Given the description of an element on the screen output the (x, y) to click on. 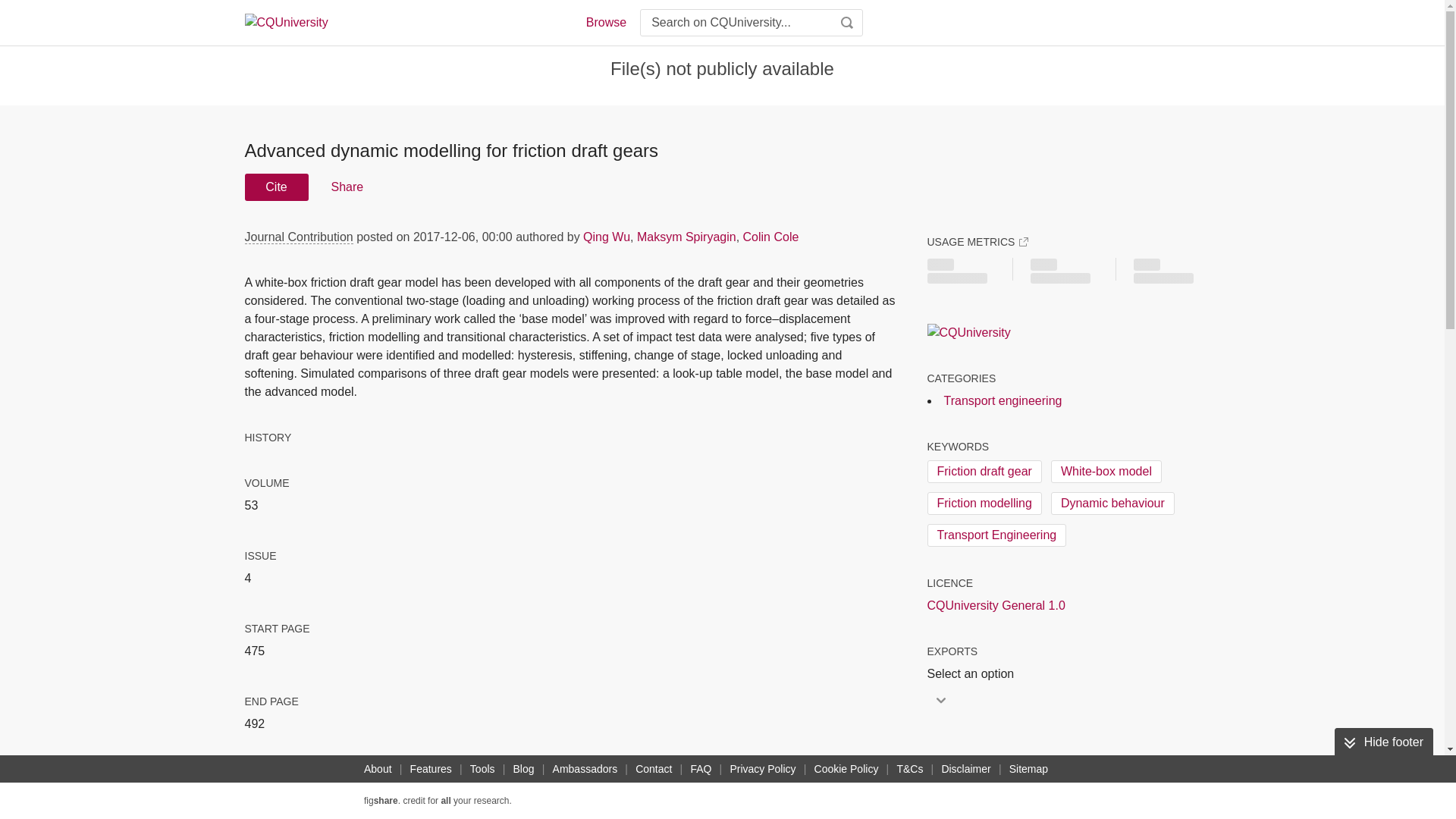
Share (346, 186)
About (377, 769)
Cite (275, 186)
Colin Cole (770, 236)
Tools (482, 769)
Qing Wu (606, 236)
Transport engineering (1002, 400)
USAGE METRICS (976, 241)
Features (431, 769)
Transport Engineering (995, 535)
